Given the description of an element on the screen output the (x, y) to click on. 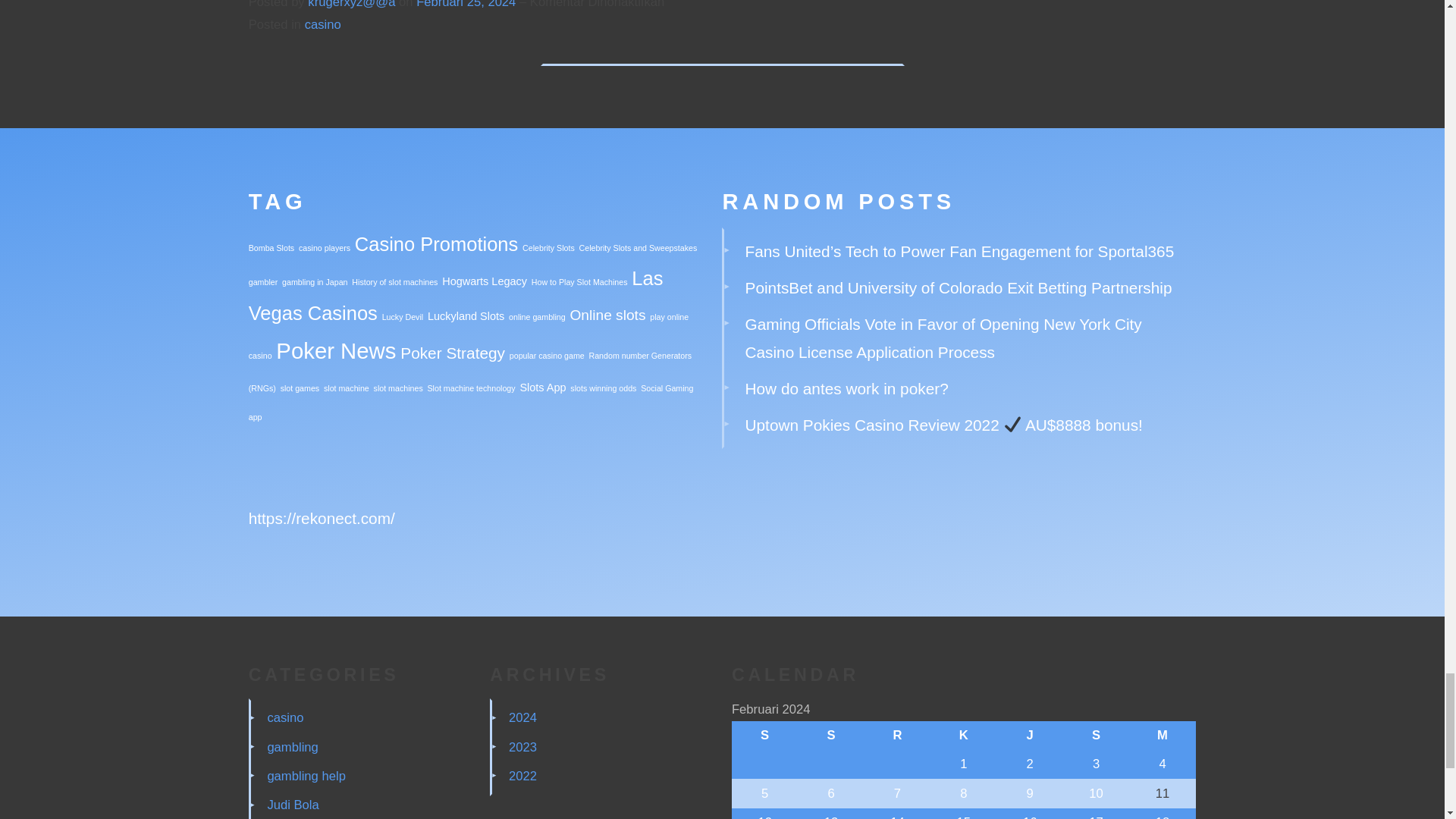
Minggu (1162, 735)
Casino Promotions (436, 243)
casino (322, 24)
gambling in Japan (314, 281)
Jumat (1029, 735)
Celebrity Slots and Sweepstakes (638, 247)
Kamis (962, 735)
Rabu (897, 735)
gambler (263, 281)
Bomba Slots (271, 247)
Selasa (830, 735)
Senin (764, 735)
Februari 25, 2024 (467, 4)
Celebrity Slots (548, 247)
Sabtu (1095, 735)
